Given the description of an element on the screen output the (x, y) to click on. 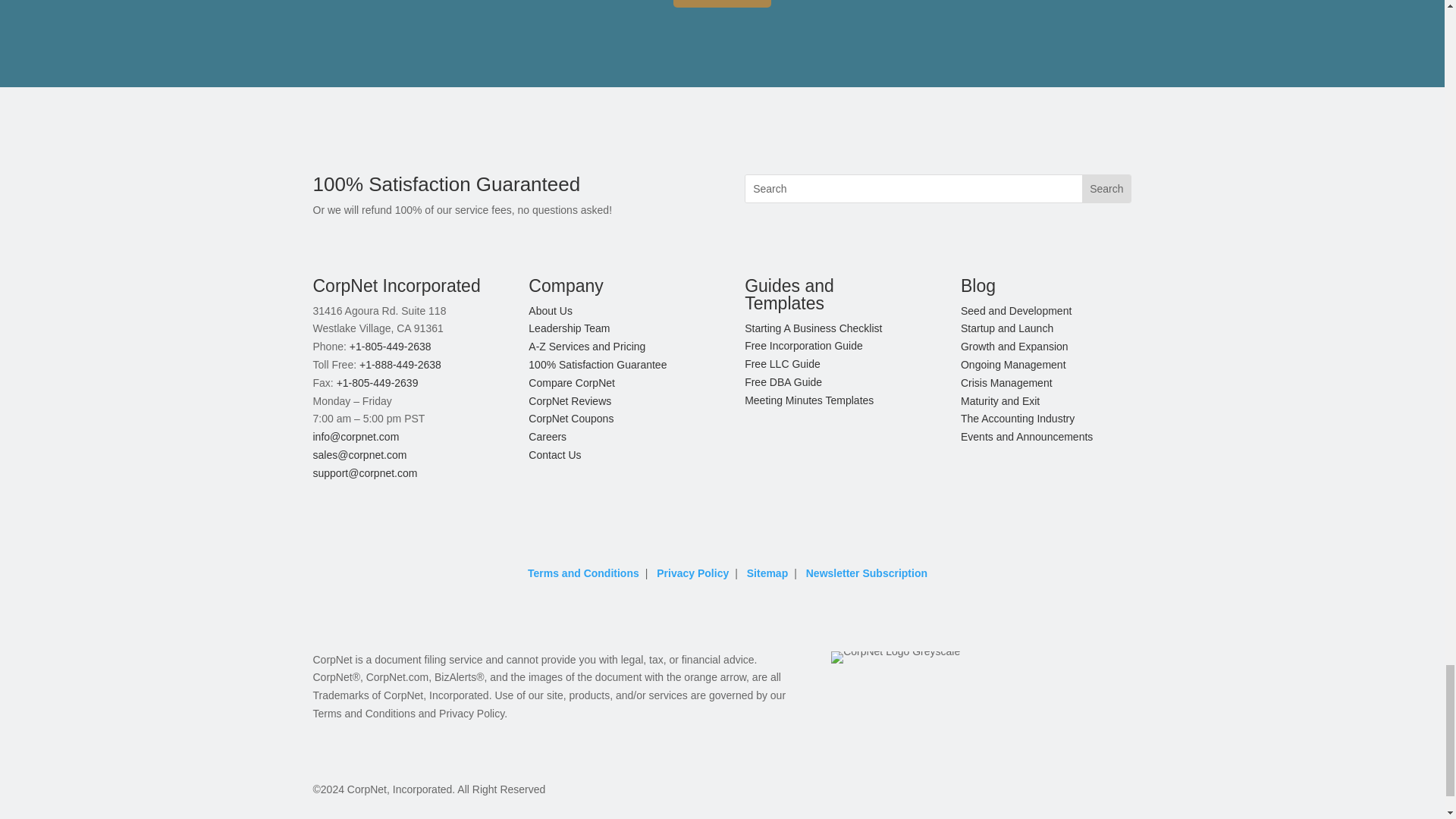
Leadership Team (569, 328)
A-Z Services and Pricing (586, 346)
CorpNet Reviews (569, 400)
Compare CorpNet (571, 382)
Search (1106, 188)
CorpNet Coupons (570, 418)
Subscribe (721, 3)
Search (1106, 188)
